Given the description of an element on the screen output the (x, y) to click on. 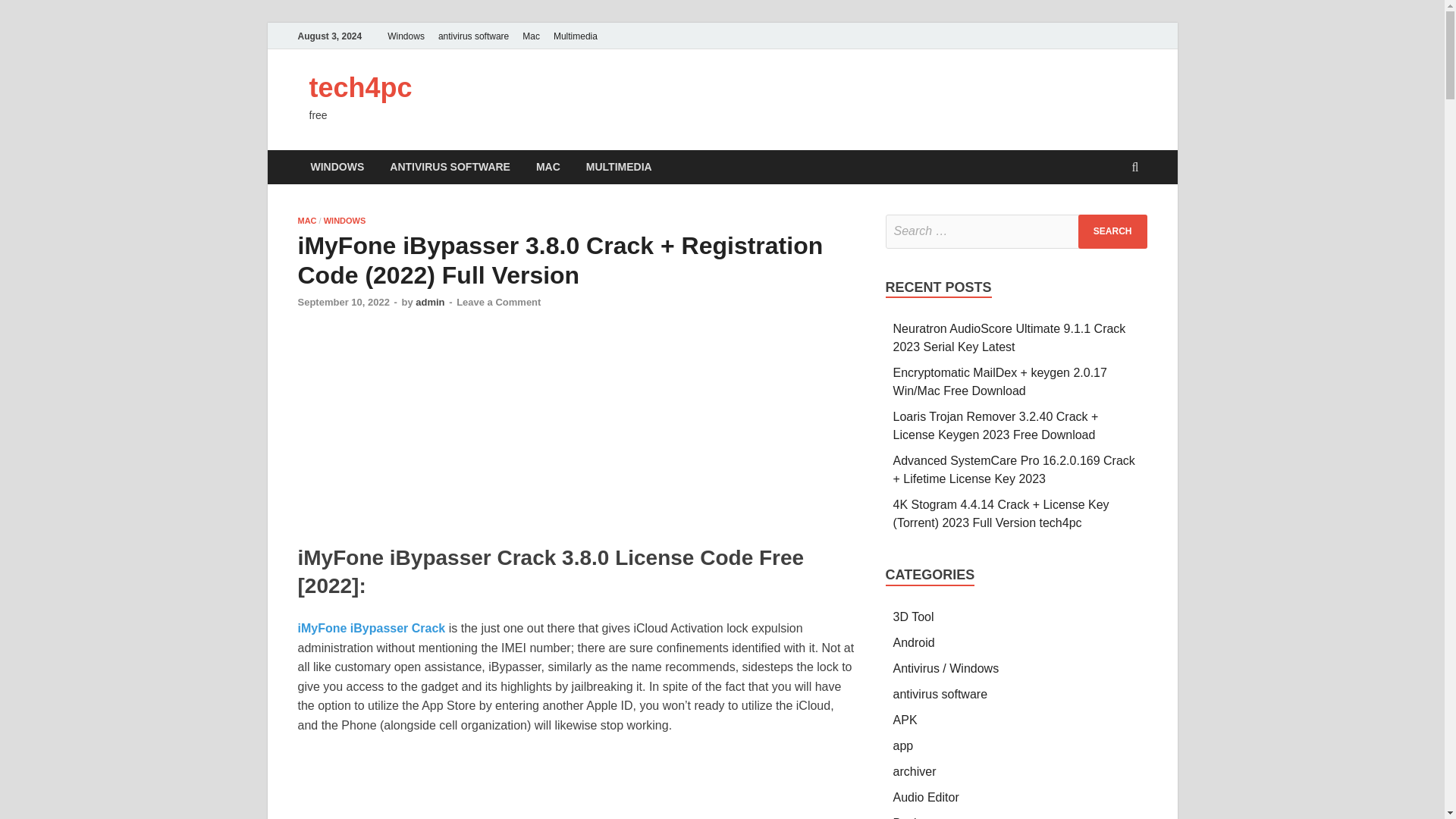
Multimedia (575, 35)
ANTIVIRUS SOFTWARE (449, 166)
Windows (405, 35)
antivirus software (472, 35)
WINDOWS (344, 220)
MULTIMEDIA (619, 166)
Search (1112, 231)
Leave a Comment (498, 301)
MAC (306, 220)
WINDOWS (337, 166)
admin (429, 301)
tech4pc (360, 87)
Mac (531, 35)
Search (1112, 231)
MAC (547, 166)
